Given the description of an element on the screen output the (x, y) to click on. 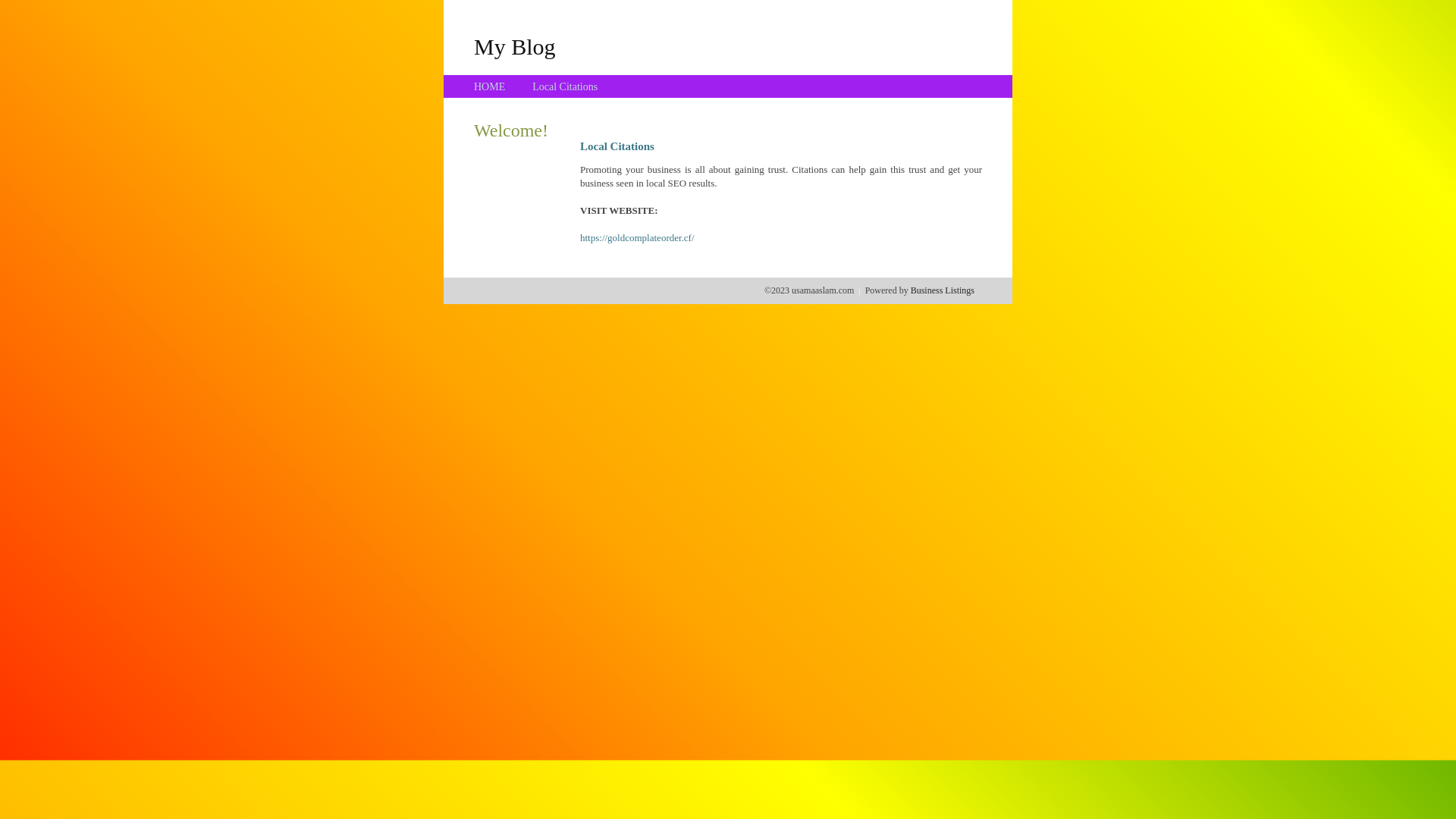
My Blog Element type: text (514, 46)
https://goldcomplateorder.cf/ Element type: text (637, 237)
Business Listings Element type: text (942, 290)
Local Citations Element type: text (564, 86)
HOME Element type: text (489, 86)
